Given the description of an element on the screen output the (x, y) to click on. 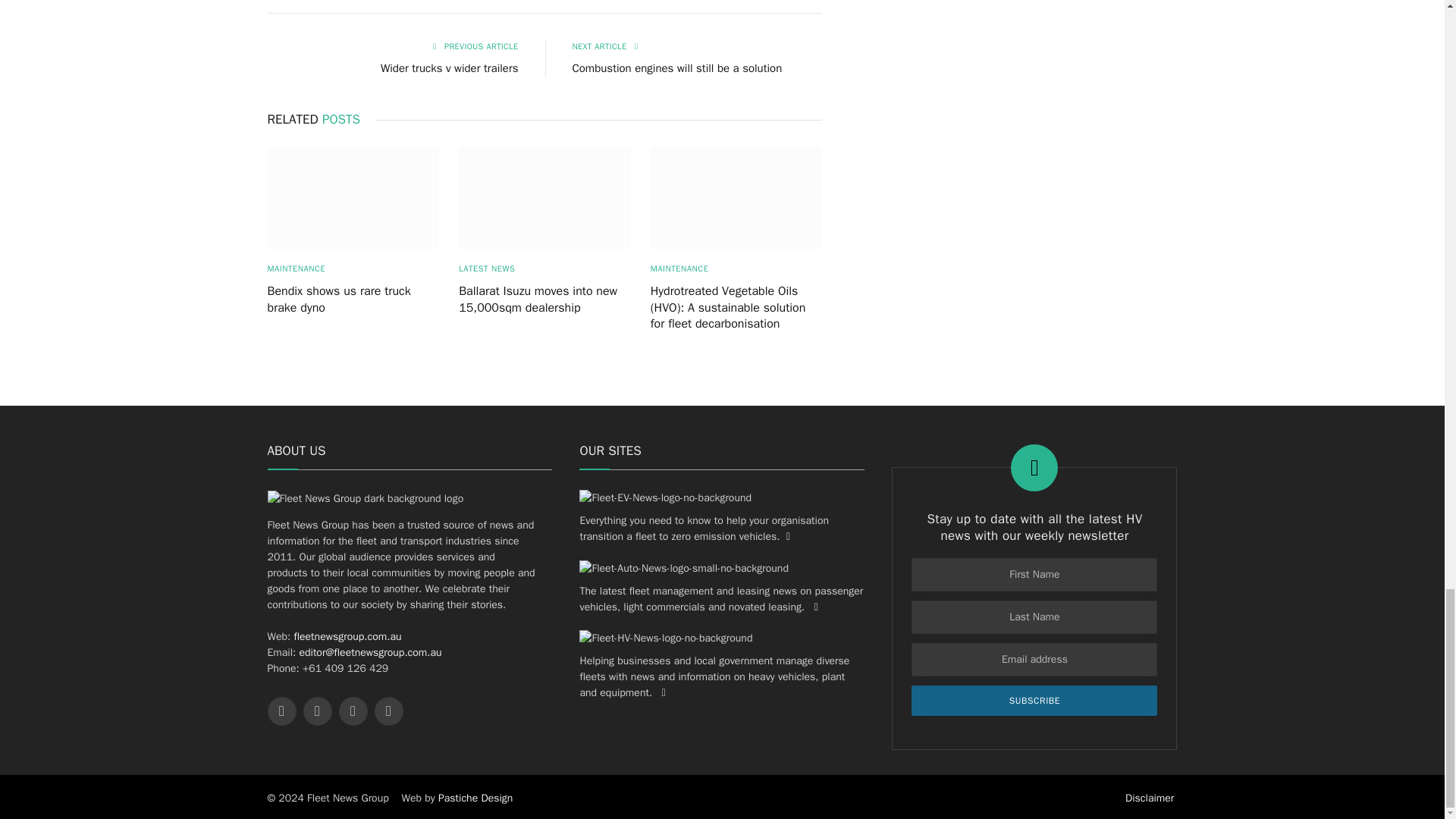
Ballarat Isuzu moves into new 15,000sqm dealership (544, 198)
Subscribe (1034, 700)
Bendix shows us rare truck brake dyno (352, 198)
